Given the description of an element on the screen output the (x, y) to click on. 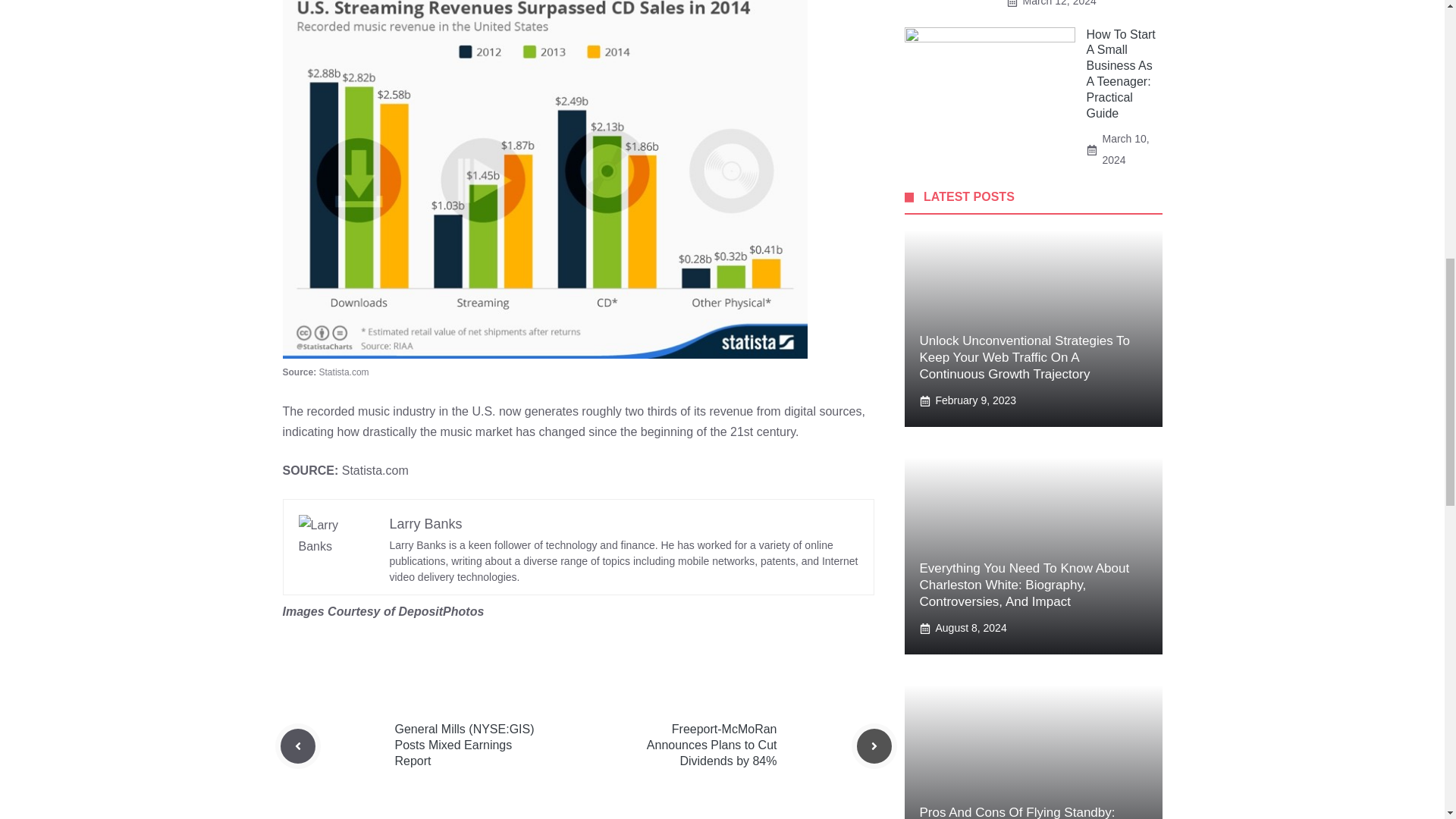
DepositPhotos (440, 611)
Larry Banks (426, 523)
Statista.com (343, 371)
Scroll back to top (1406, 720)
Statista.com (375, 470)
Pros And Cons Of Flying Standby: What You Need To Know (1016, 812)
